Given the description of an element on the screen output the (x, y) to click on. 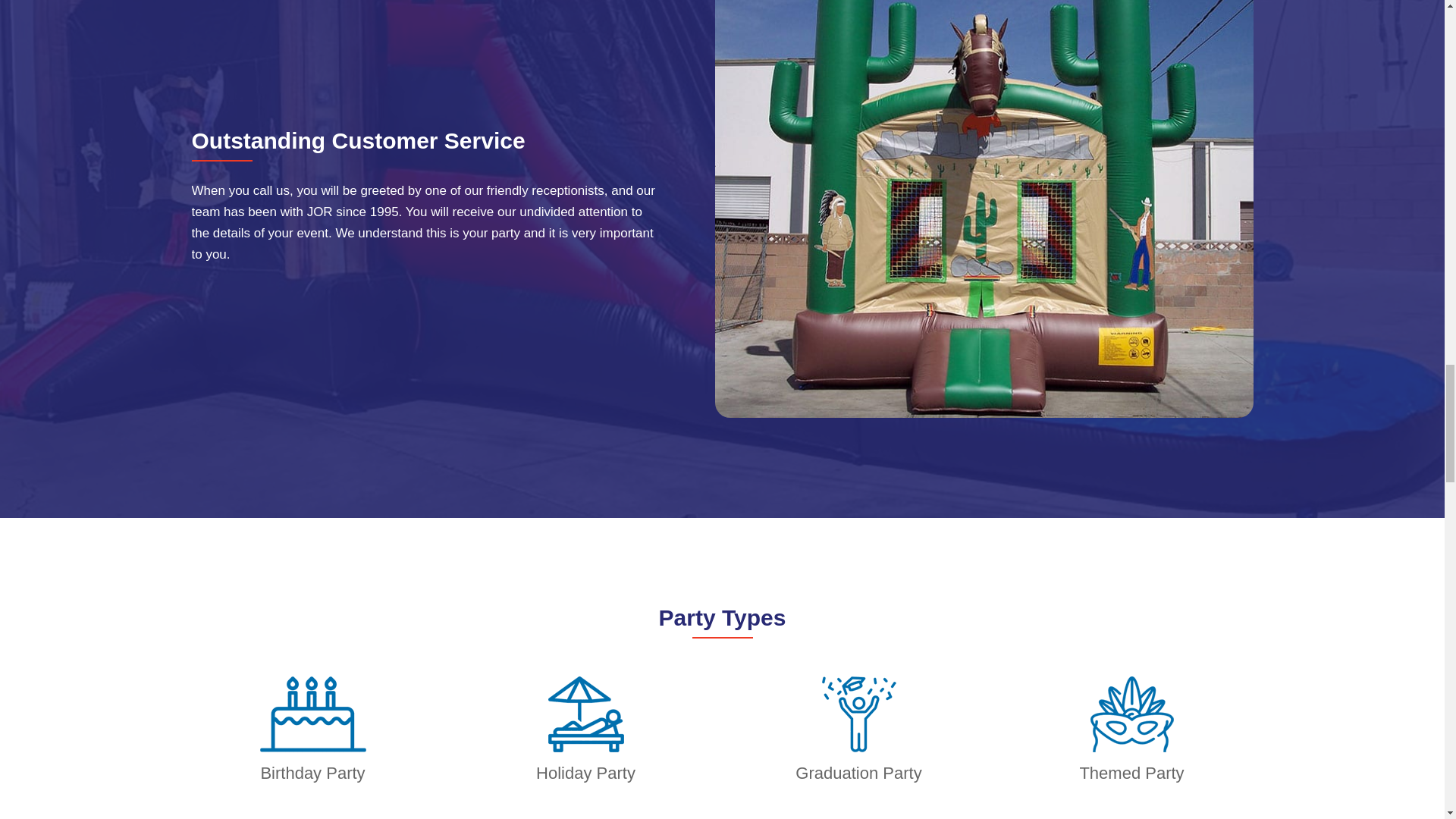
Jump O'Rama (585, 714)
Jump O'Rama (1131, 714)
Jump O'Rama (312, 714)
13 (859, 714)
